Given the description of an element on the screen output the (x, y) to click on. 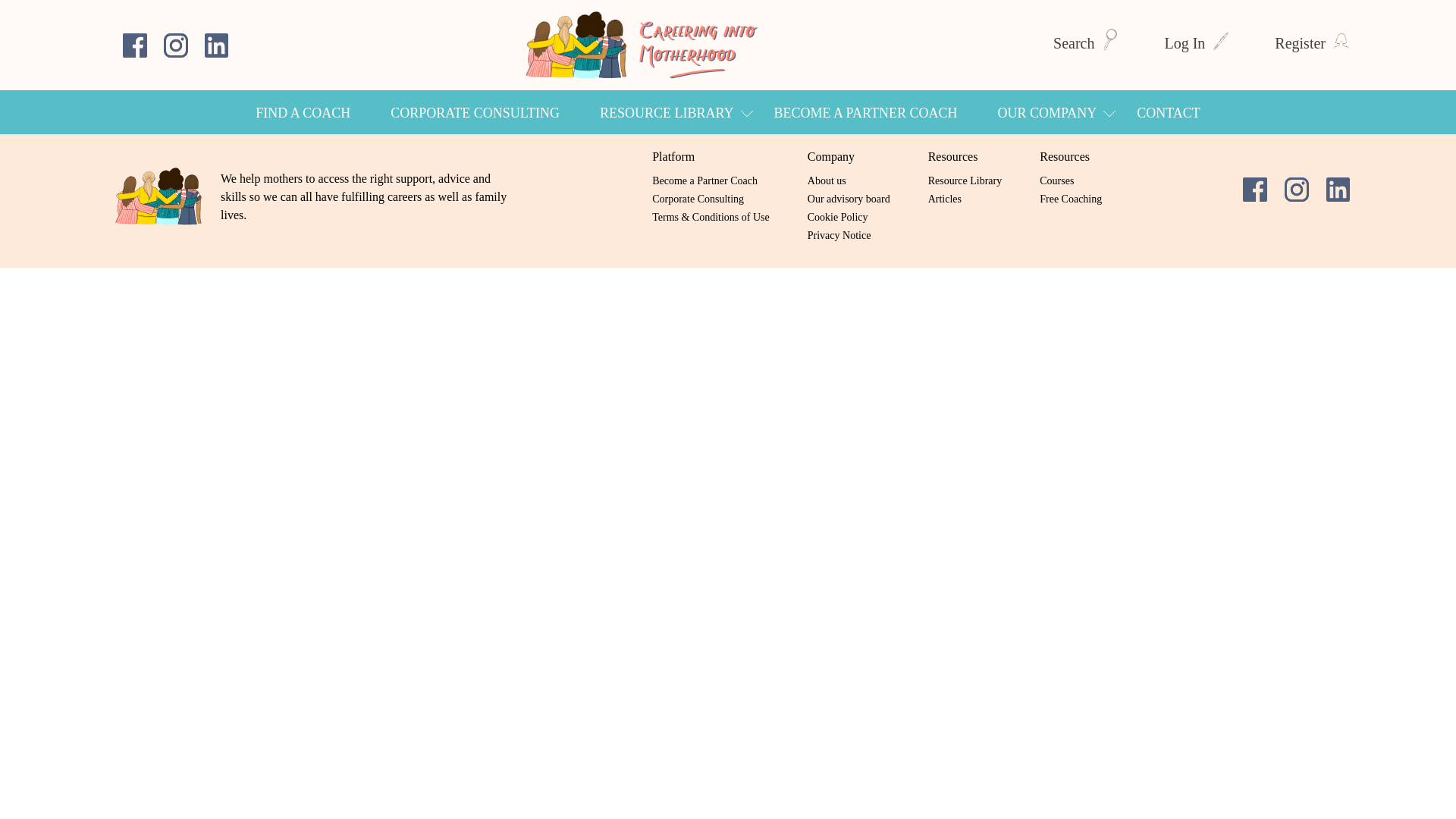
Register (1312, 43)
BECOME A PARTNER COACH (866, 112)
CORPORATE CONSULTING (474, 112)
RESOURCE LIBRARY (666, 112)
FIND A COACH (303, 112)
OUR COMPANY (1046, 112)
CONTACT (1168, 112)
Search (1085, 43)
Log In (1195, 43)
